Given the description of an element on the screen output the (x, y) to click on. 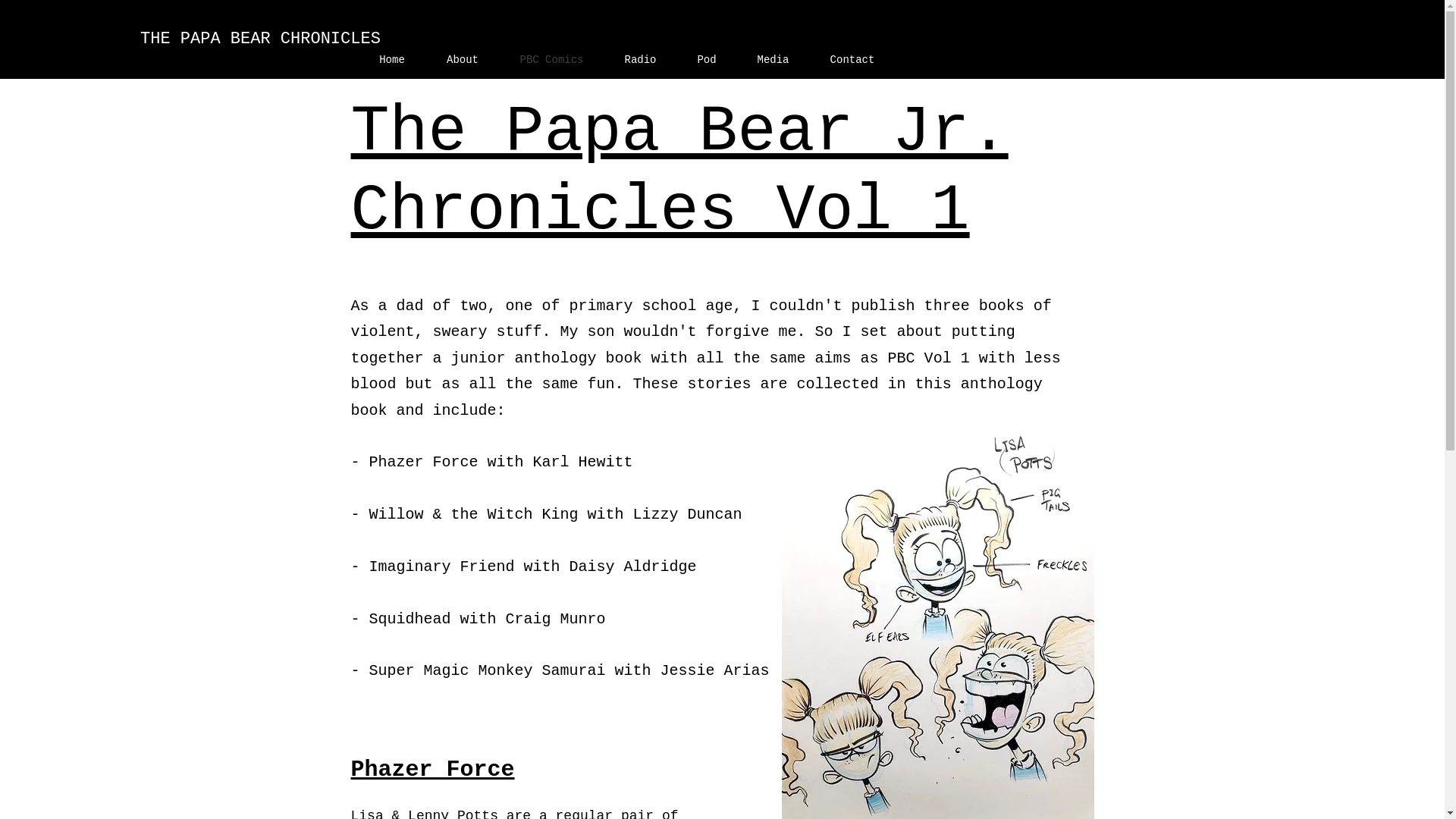
PBC Comics (551, 59)
Home (391, 59)
Contact (852, 59)
About (462, 59)
THE PAPA BEAR CHRONICLES (259, 38)
Media (772, 59)
Radio (640, 59)
Pod (706, 59)
